Given the description of an element on the screen output the (x, y) to click on. 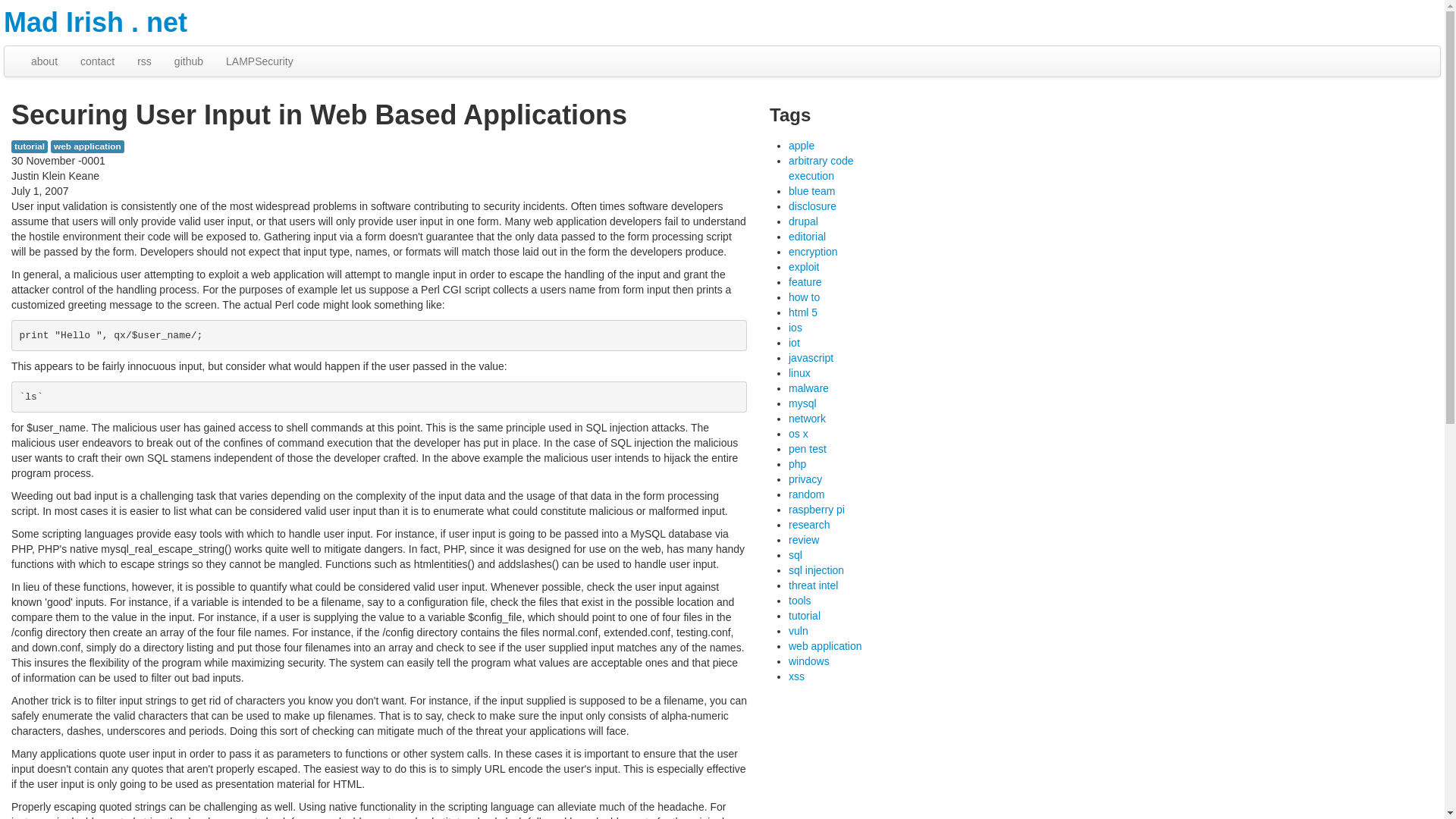
LAMPSecurity (259, 60)
About me (44, 60)
pen test (808, 449)
sql injection (816, 570)
tools (799, 600)
vuln (798, 630)
review (803, 539)
malware (808, 387)
tutorial (805, 615)
threat intel (813, 585)
javascript (810, 357)
web application (86, 145)
random (806, 494)
about (44, 60)
raspberry pi (816, 509)
